Given the description of an element on the screen output the (x, y) to click on. 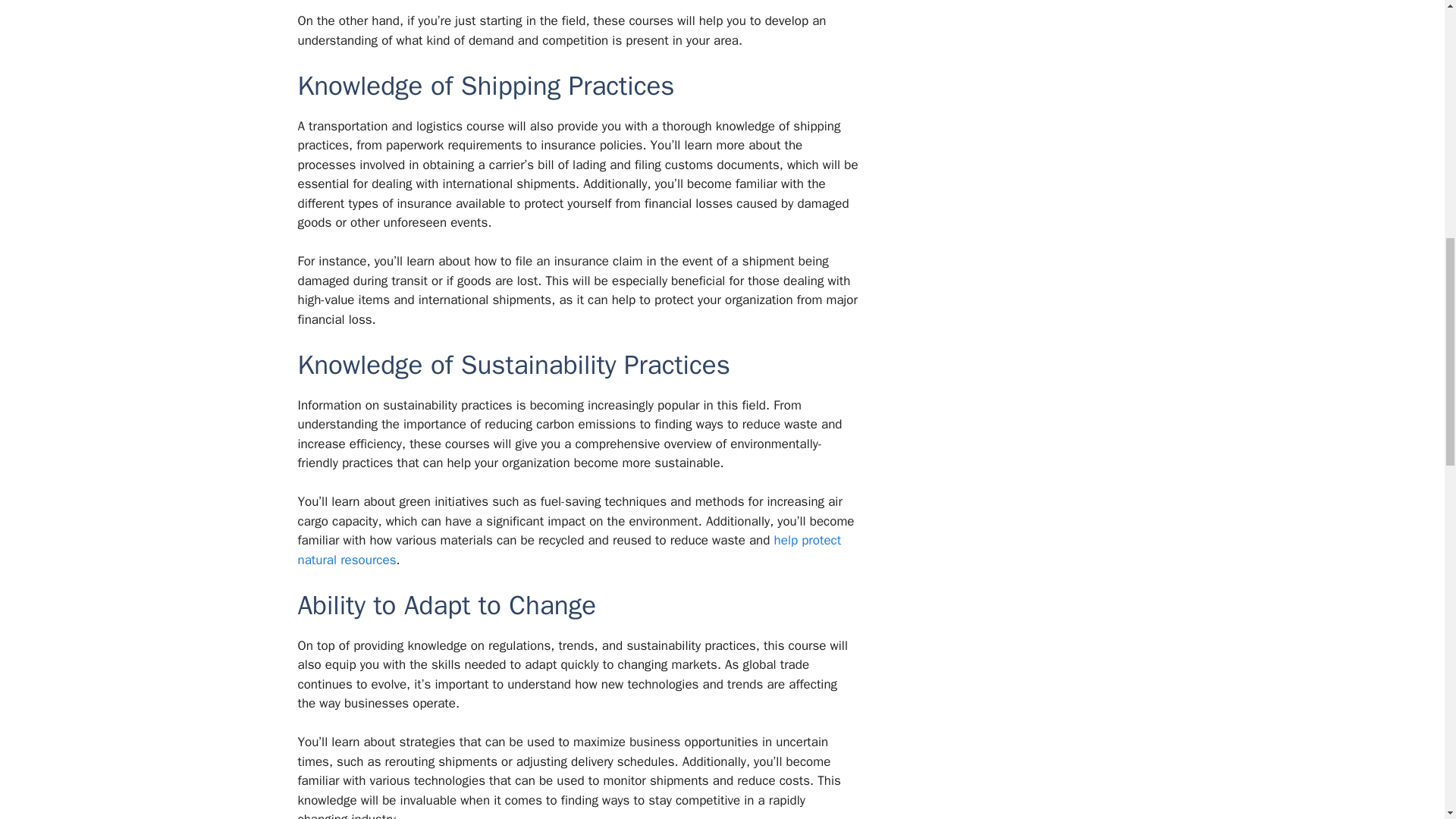
help protect natural resources (569, 550)
Scroll back to top (1406, 720)
